Given the description of an element on the screen output the (x, y) to click on. 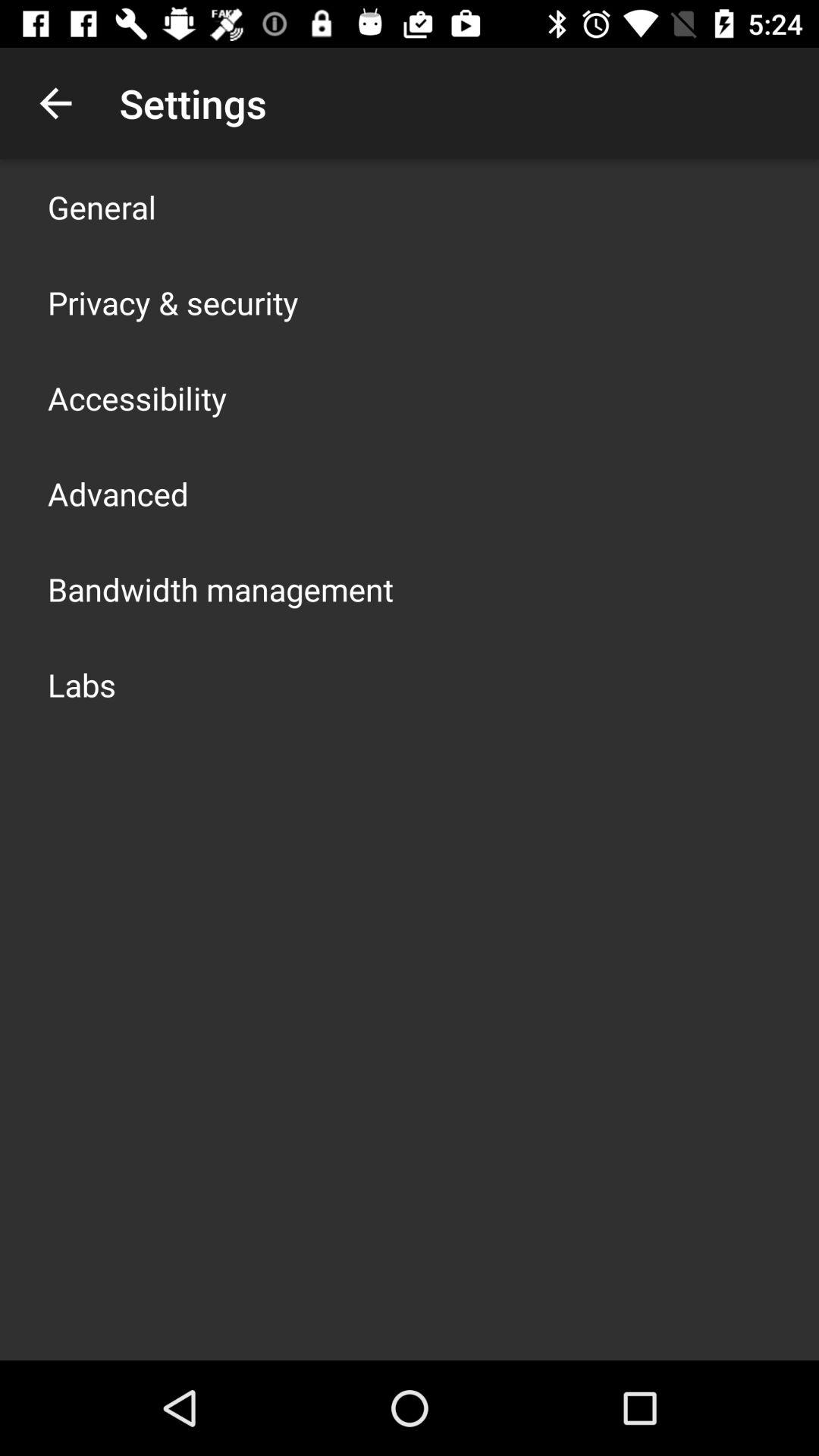
press the accessibility item (136, 397)
